Given the description of an element on the screen output the (x, y) to click on. 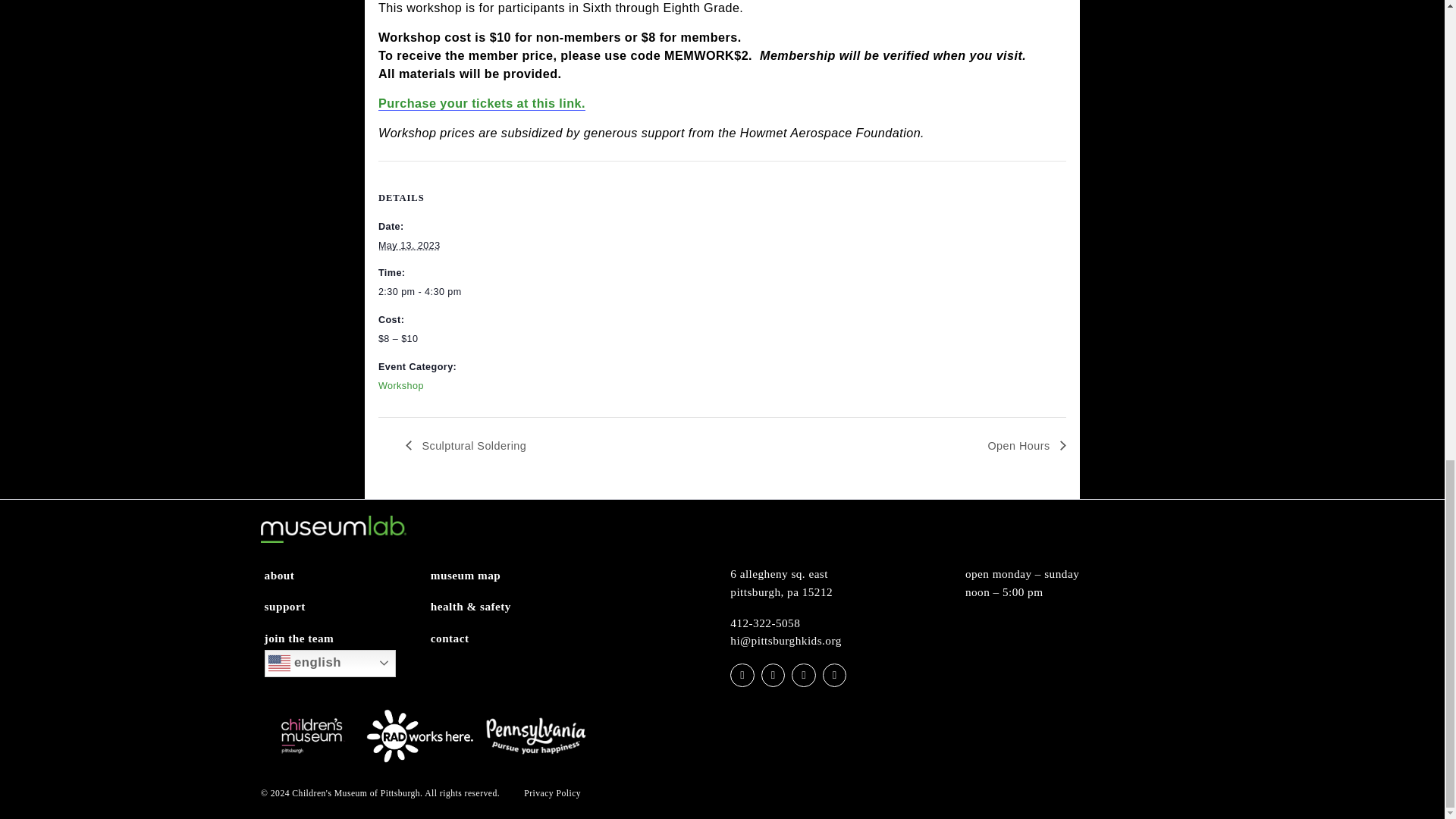
2023-05-13 (454, 390)
Workshop (445, 546)
support (316, 792)
Purchase your tickets at this link. (534, 232)
Sculptural Soldering (520, 612)
Open Hours (1137, 612)
2023-05-13 (483, 442)
museum map (517, 756)
about (310, 756)
